Given the description of an element on the screen output the (x, y) to click on. 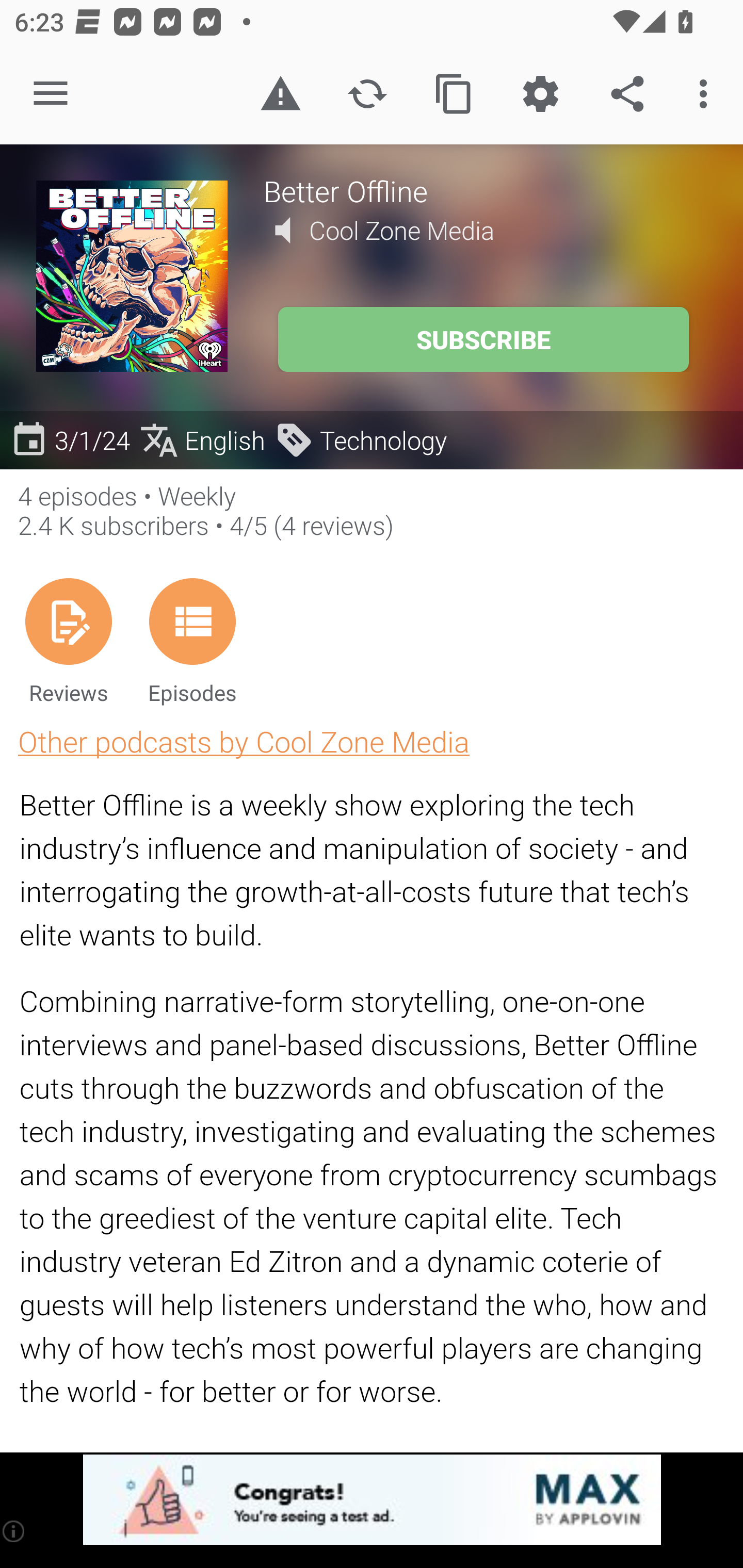
Open navigation sidebar (50, 93)
Report inappropriate content (280, 93)
Refresh podcast description (366, 93)
Copy feed url to clipboard (453, 93)
Custom Settings (540, 93)
Share the podcast (626, 93)
More options (706, 93)
Better Offline (484, 190)
Cool Zone Media (401, 230)
SUBSCRIBE (482, 339)
Technology (360, 439)
Reviews (68, 640)
Episodes (192, 640)
Other podcasts by Cool Zone Media (243, 740)
app-monetization (371, 1500)
(i) (14, 1531)
